Given the description of an element on the screen output the (x, y) to click on. 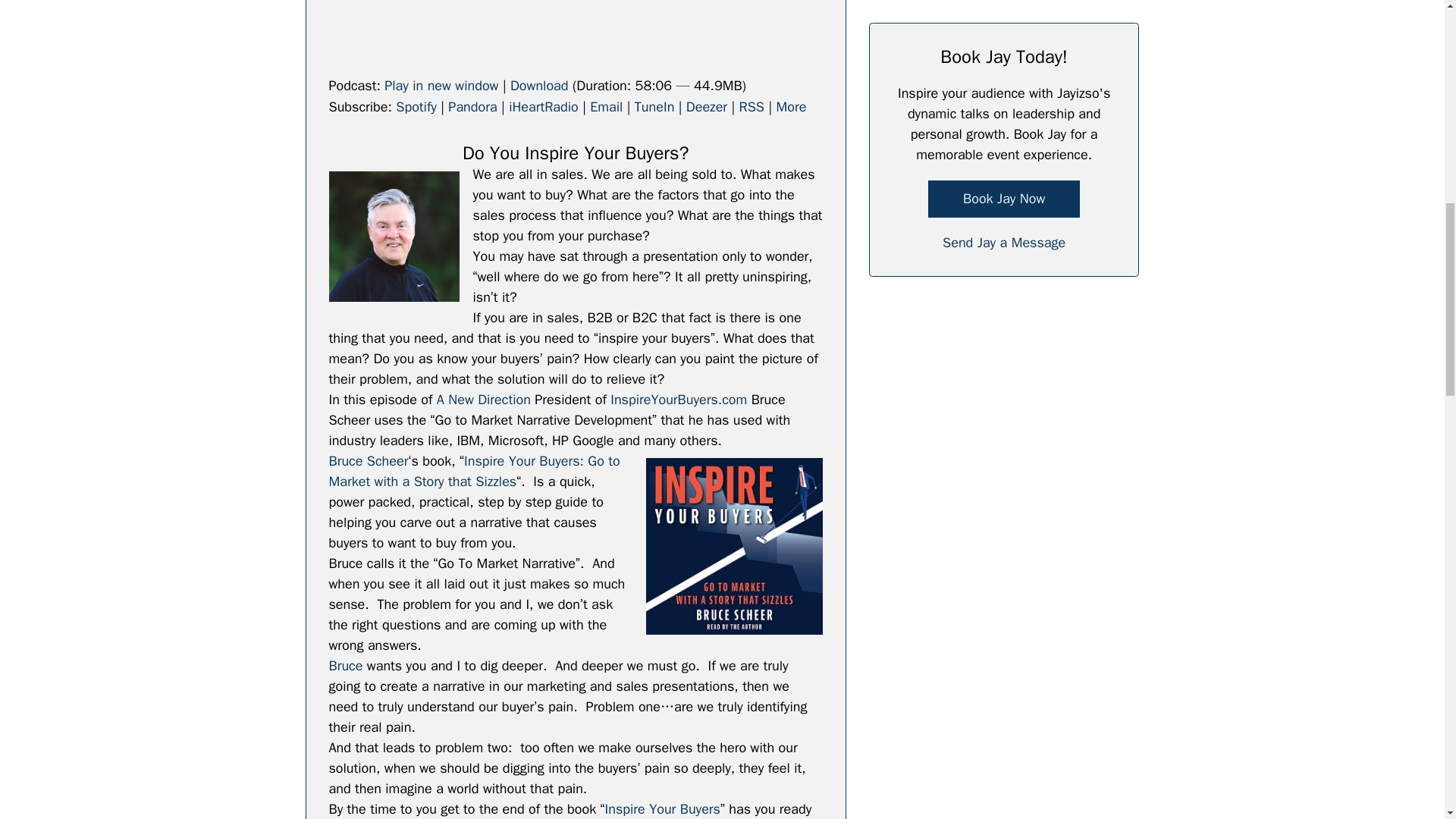
Blubrry Podcast Player (575, 31)
Download (540, 85)
Play in new window (440, 85)
Subscribe on Deezer (705, 106)
Subscribe on iHeartRadio (543, 106)
More (791, 106)
Subscribe by Email (606, 106)
Subscribe on Pandora (472, 106)
Subscribe on Spotify (416, 106)
Subscribe on TuneIn (654, 106)
Subscribe via RSS (751, 106)
